Given the description of an element on the screen output the (x, y) to click on. 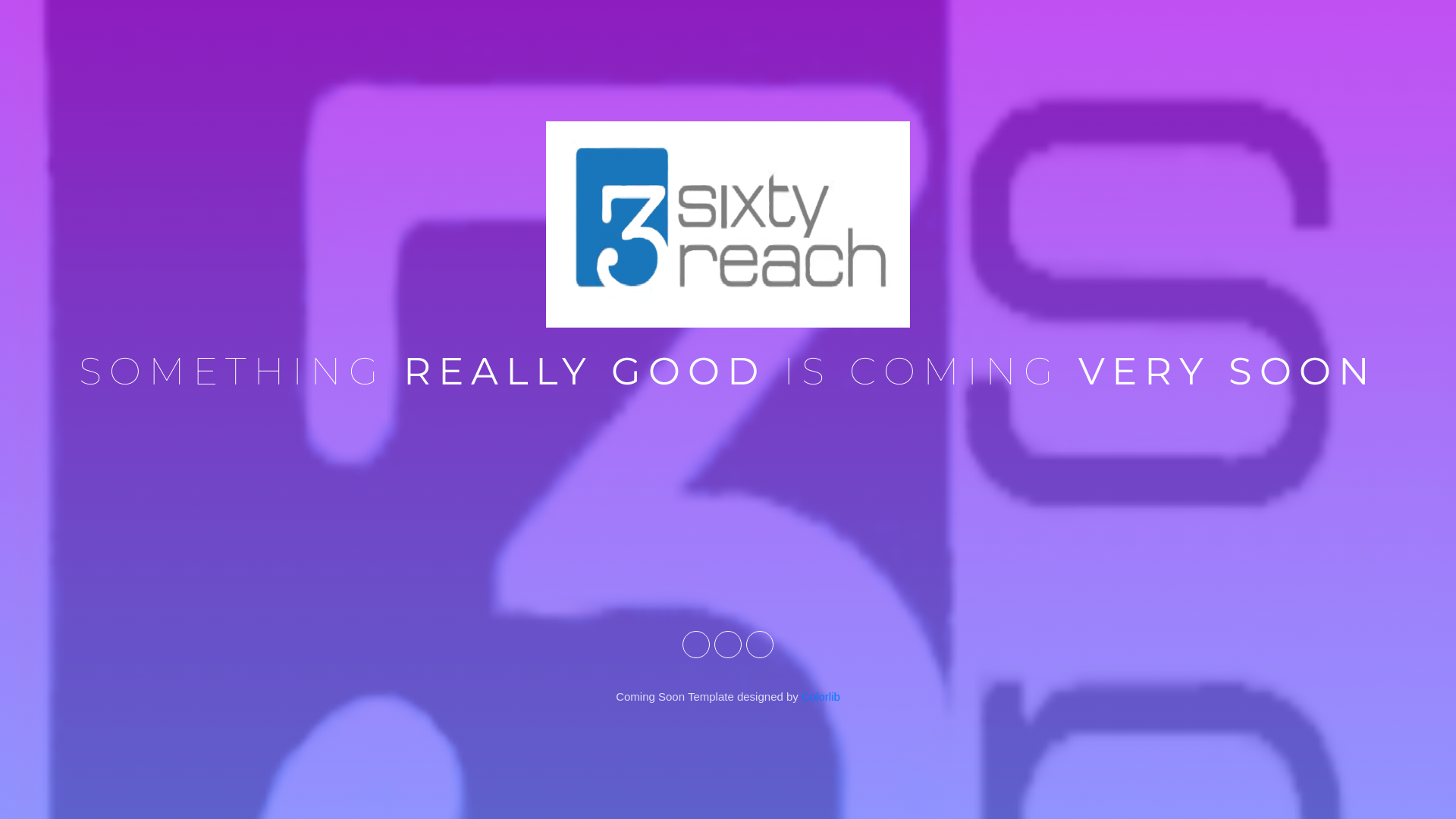
Colorlib Element type: text (820, 696)
